Given the description of an element on the screen output the (x, y) to click on. 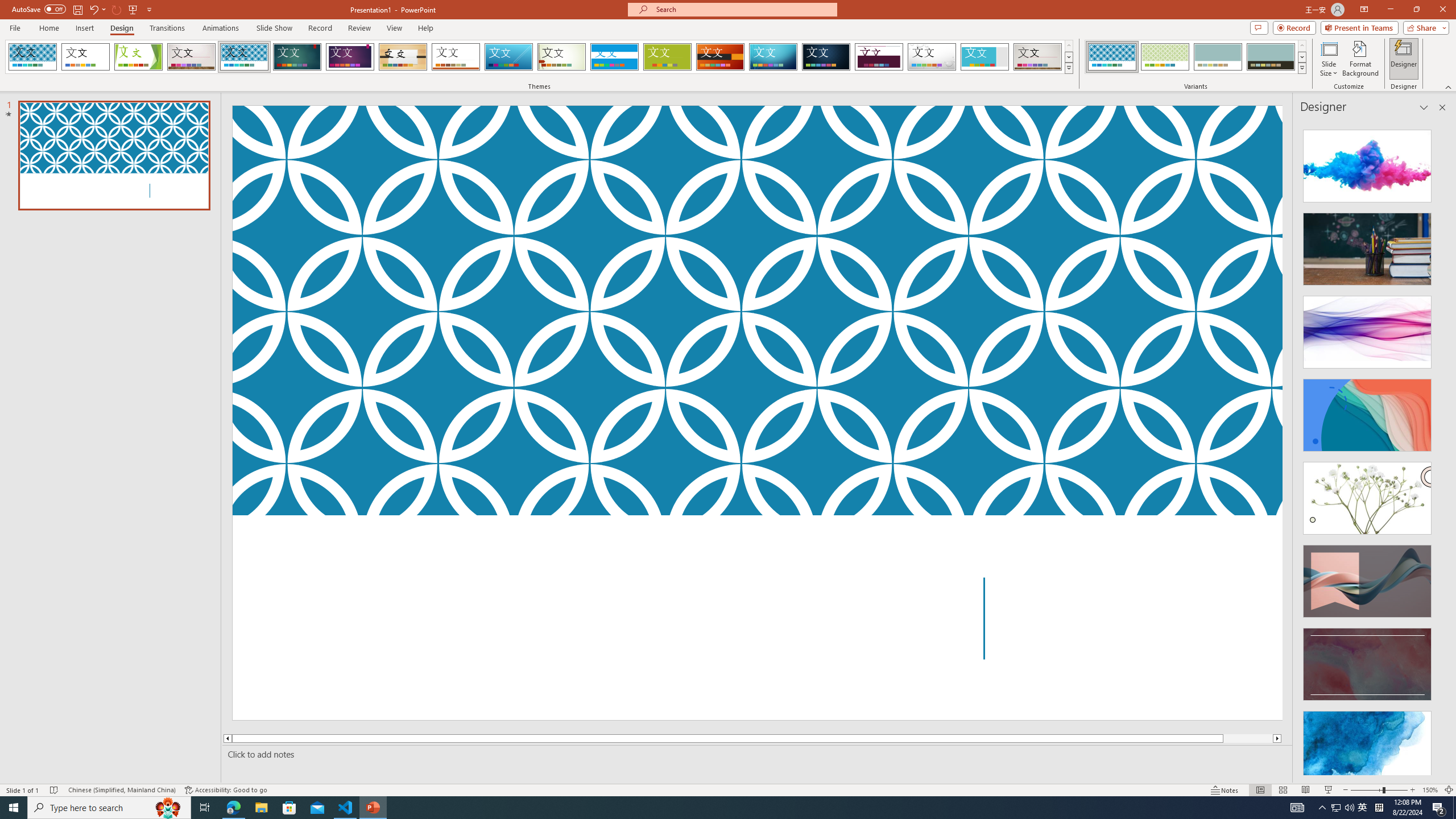
Class: MsoCommandBar (728, 789)
Retrospect Loading Preview... (455, 56)
Integral Variant 1 (1112, 56)
Designer (1403, 58)
Facet (138, 56)
Row up (1301, 45)
Class: NetUIImage (1302, 68)
Slide Notes (754, 754)
Dividend Loading Preview... (879, 56)
Format Background (1360, 58)
Basis Loading Preview... (667, 56)
